Given the description of an element on the screen output the (x, y) to click on. 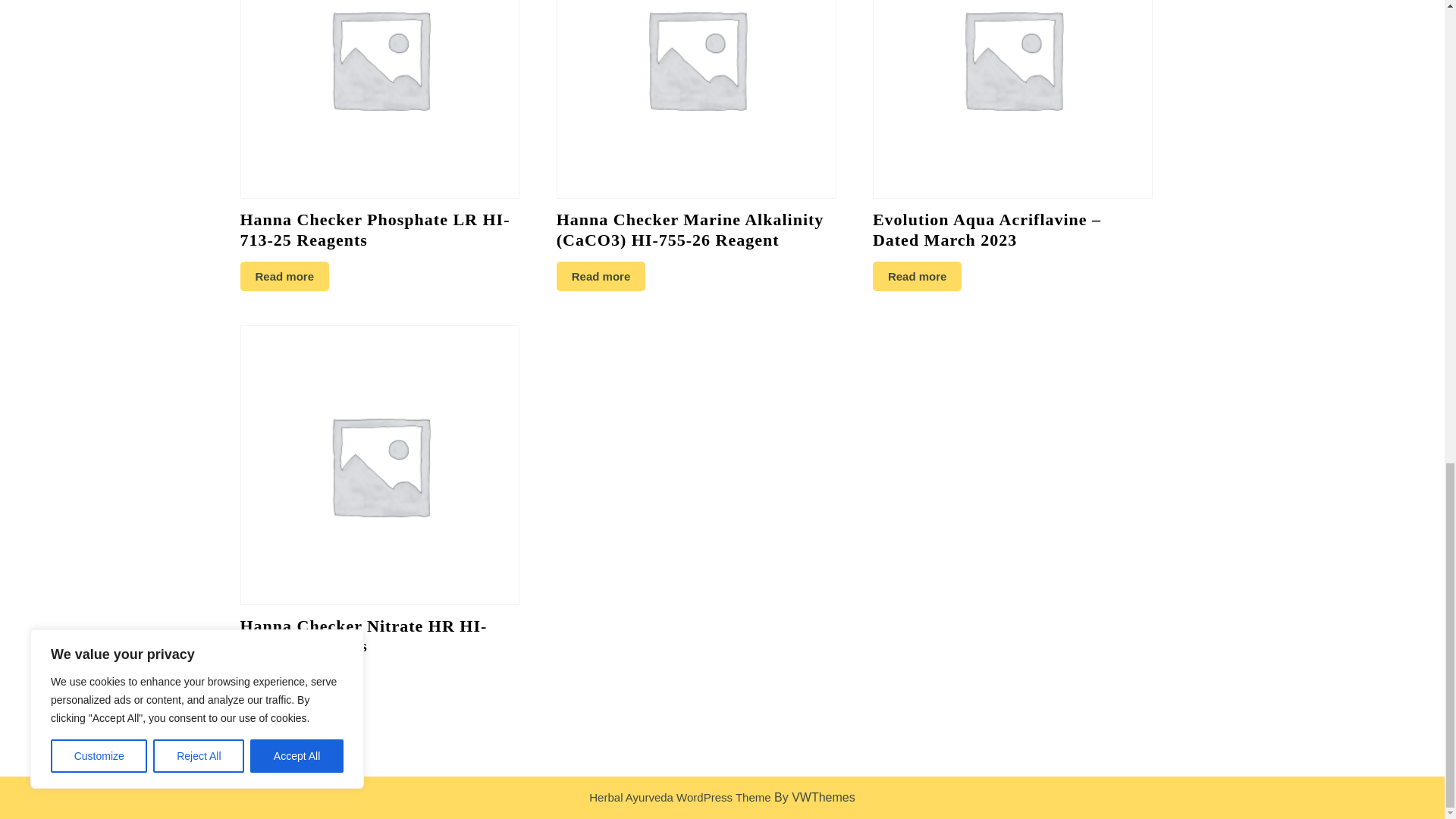
Read more (601, 276)
Read more (284, 276)
Hanna Checker Phosphate LR HI-713-25 Reagents (379, 141)
